Given the description of an element on the screen output the (x, y) to click on. 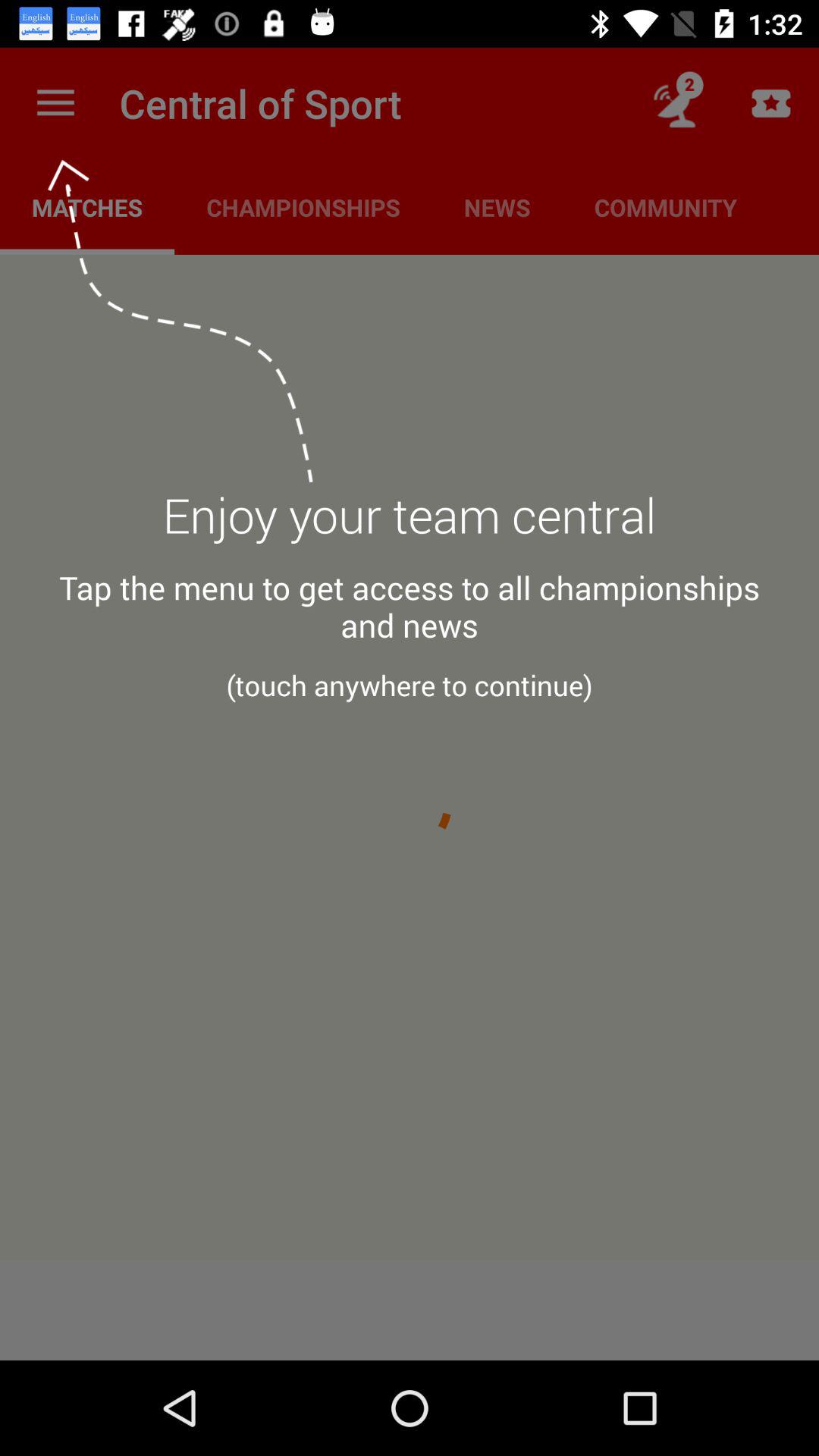
tap the app above the tap the menu app (409, 524)
